Given the description of an element on the screen output the (x, y) to click on. 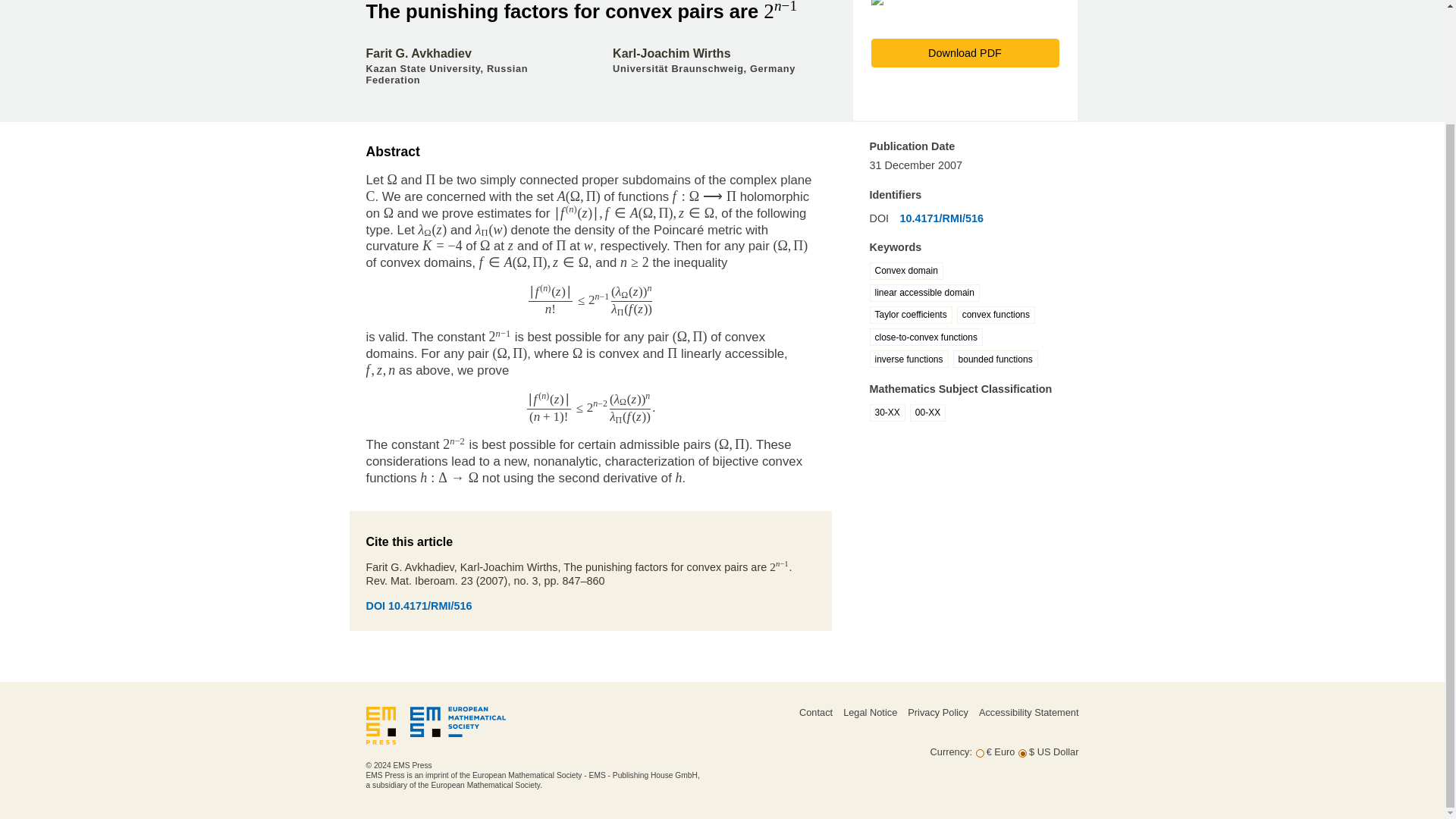
Contact (815, 712)
Legal Notice (869, 712)
Privacy Policy (937, 712)
Download PDF (964, 52)
Accessibility Statement (1028, 712)
Footer Navigation (889, 726)
USD (1021, 753)
EUR (979, 753)
